Given the description of an element on the screen output the (x, y) to click on. 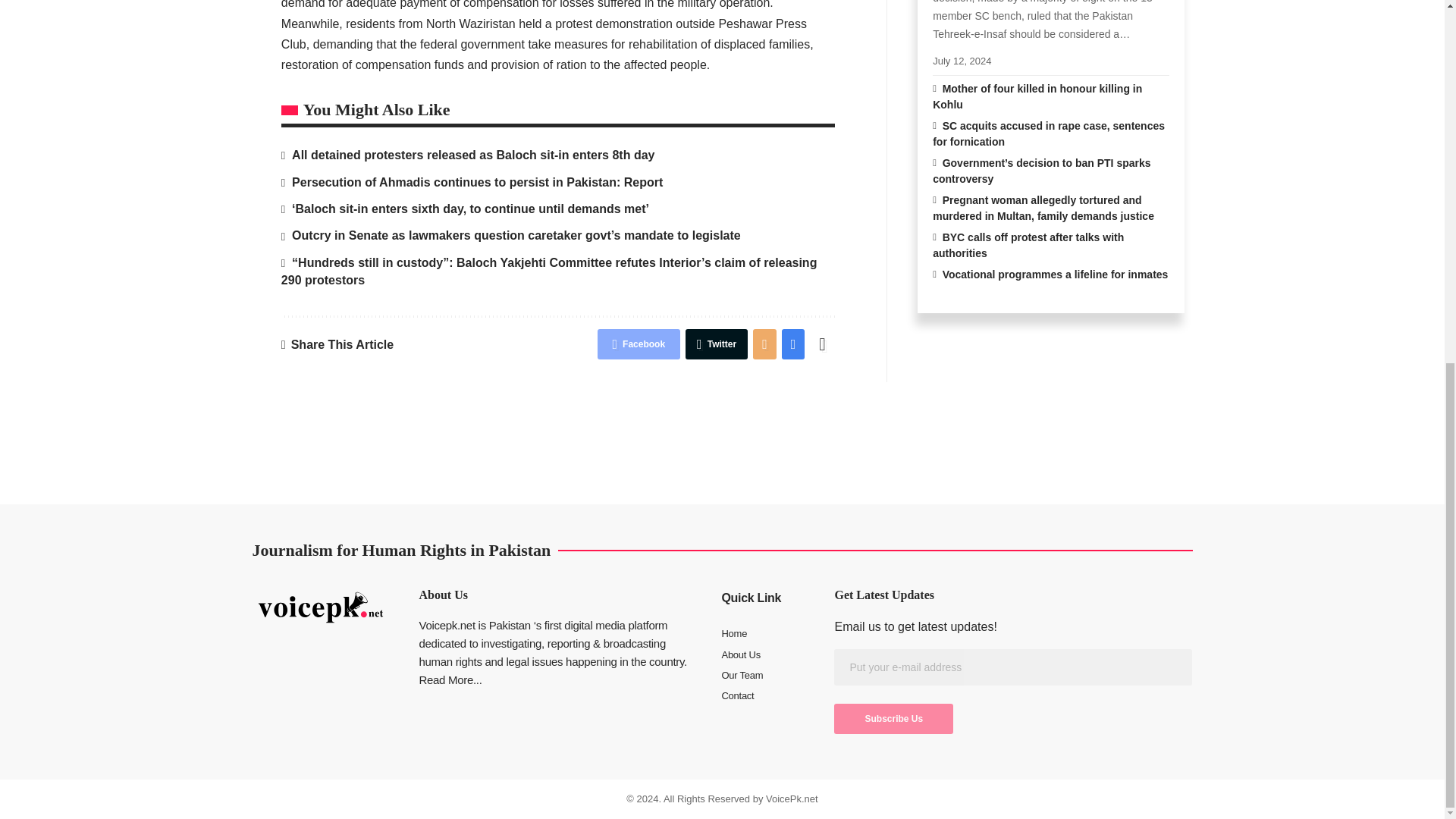
Subscribe Us (893, 718)
